Given the description of an element on the screen output the (x, y) to click on. 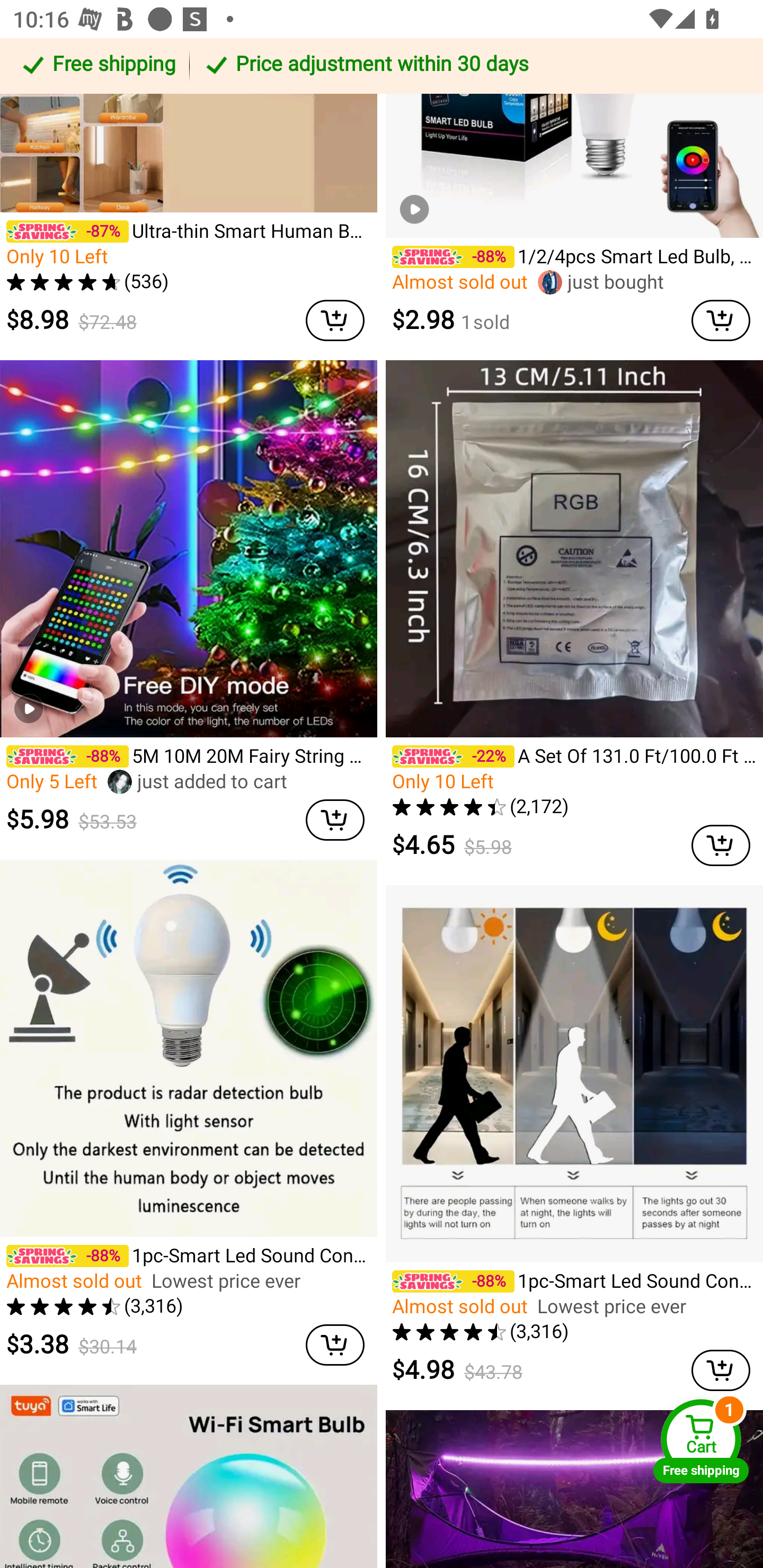
Free shipping (97, 65)
Price adjustment within 30 days (472, 65)
cart delete (334, 320)
cart delete (720, 320)
cart delete (334, 819)
cart delete (720, 844)
cart delete (334, 1344)
cart delete (720, 1370)
Cart Free shipping Cart (701, 1440)
